Given the description of an element on the screen output the (x, y) to click on. 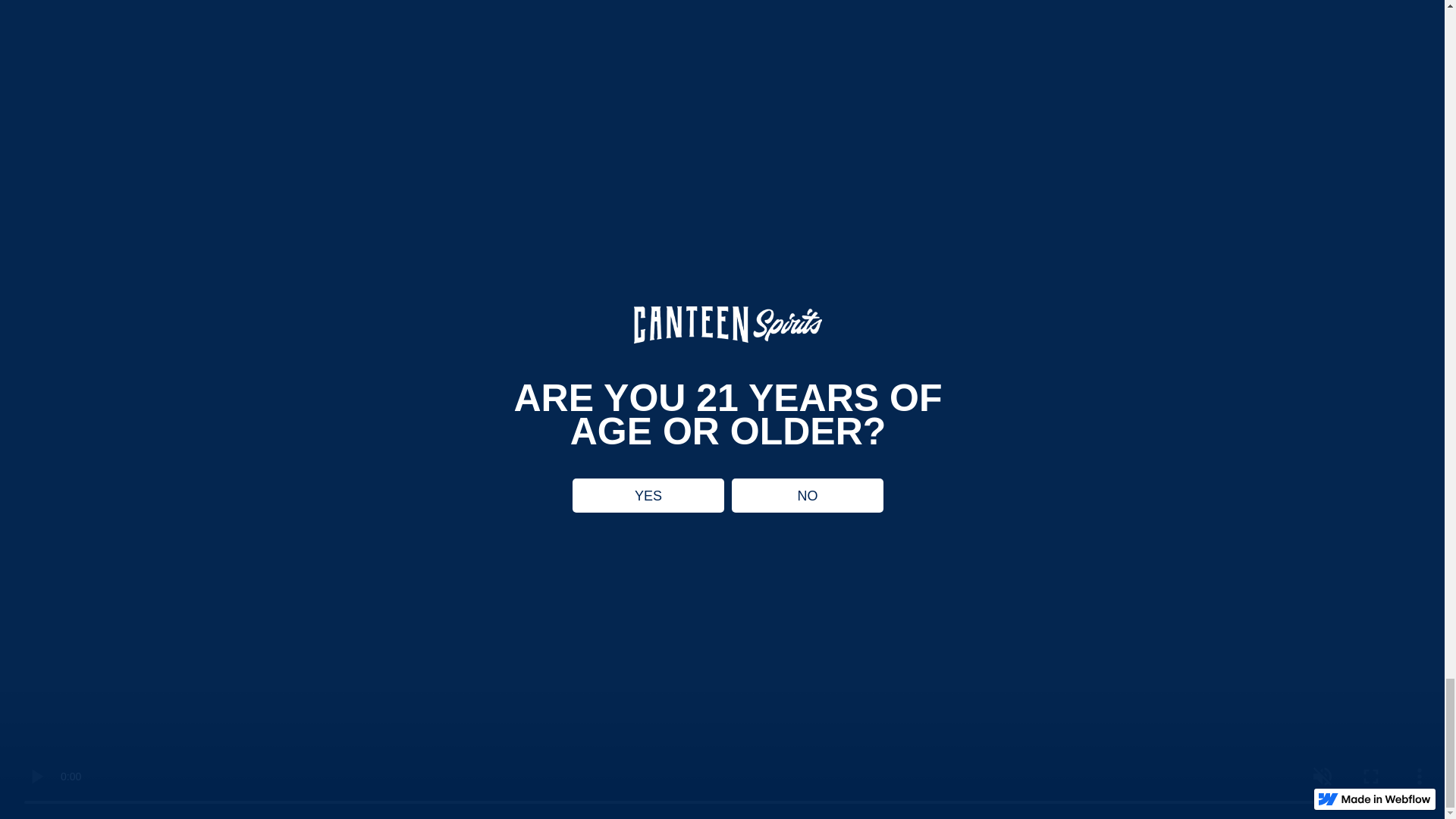
SHOP NOW (147, 688)
